Given the description of an element on the screen output the (x, y) to click on. 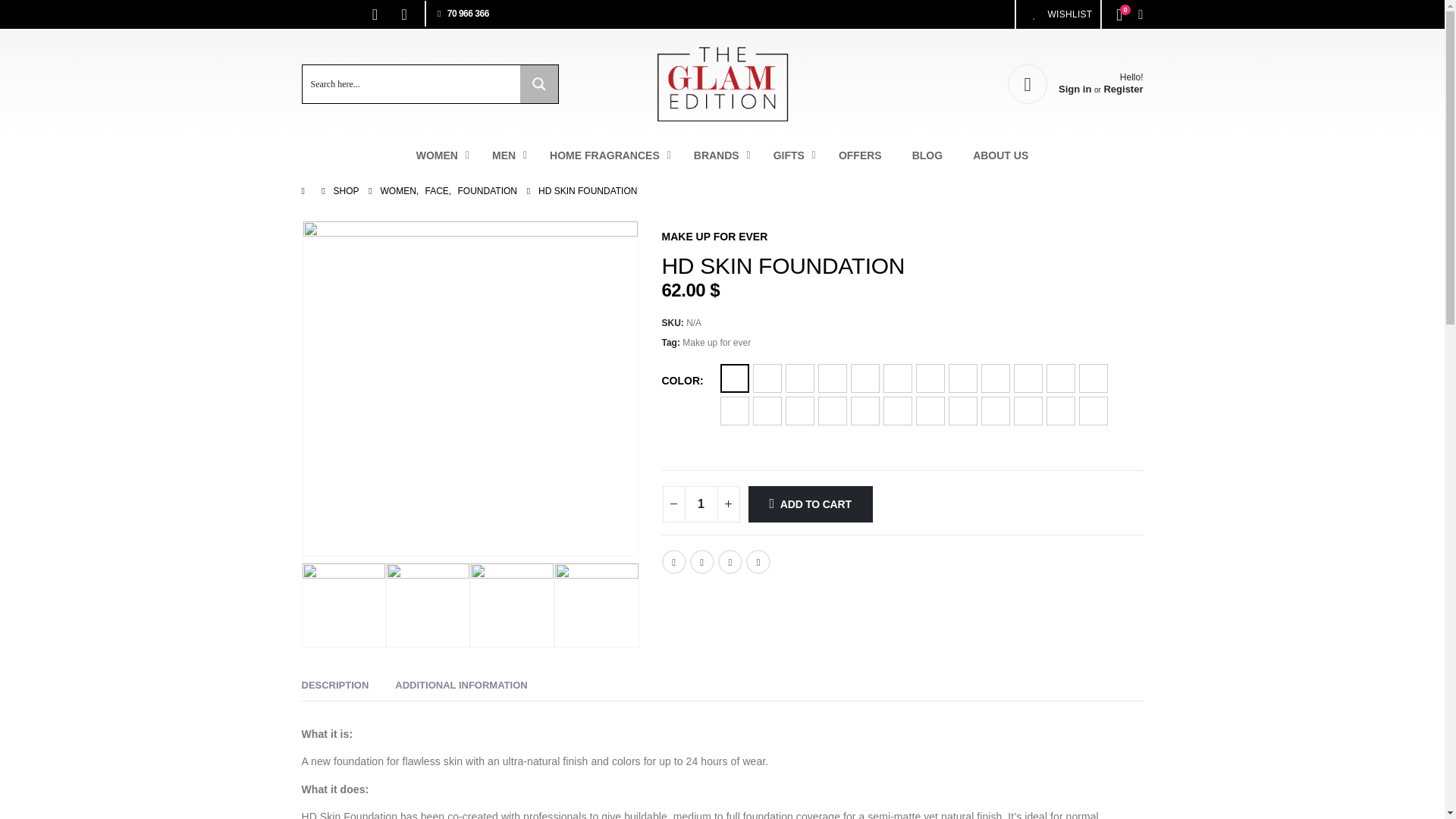
WOMEN (439, 155)
WISHLIST (721, 155)
My Account (1057, 14)
Facebook (1074, 84)
1r02 cool albaster (374, 13)
Instagram (469, 388)
1 (403, 13)
1r02 cool albaster (700, 504)
The Glam Edition -  (1074, 84)
swatch pink albaster (342, 604)
face albaster (722, 83)
1N00 - pink albaster (511, 604)
